Given the description of an element on the screen output the (x, y) to click on. 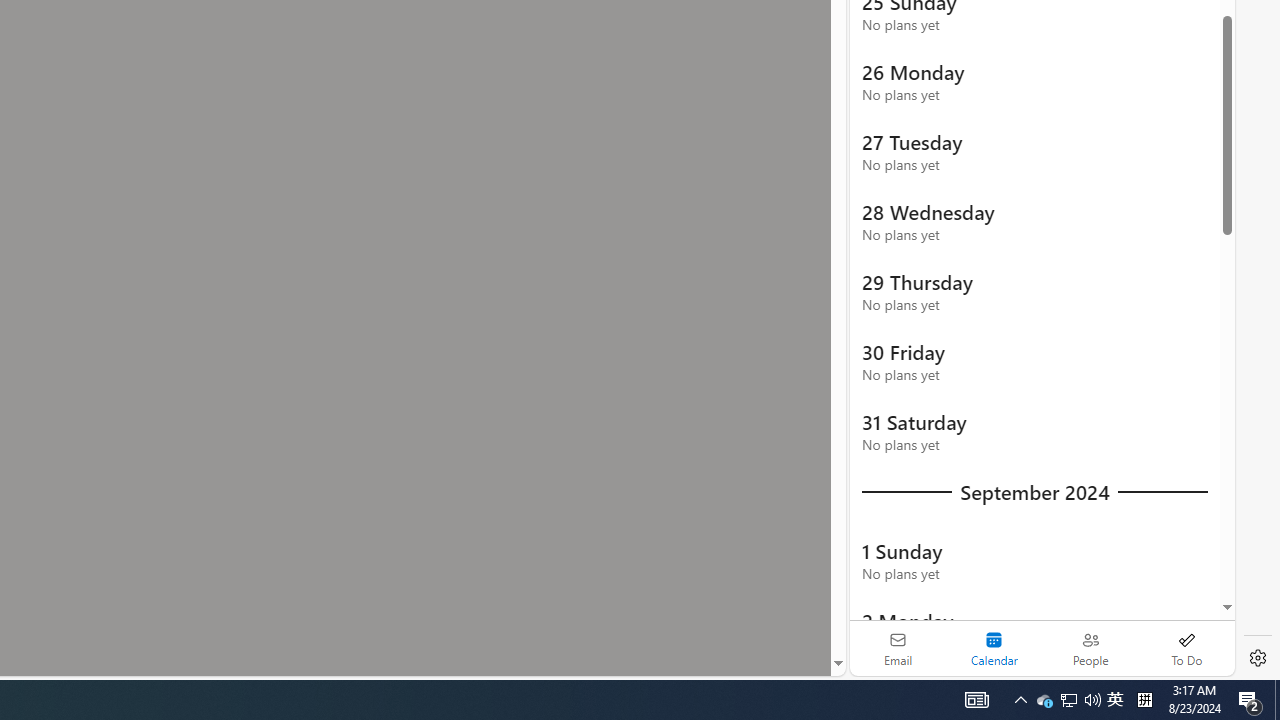
Selected calendar module. Date today is 22 (994, 648)
Settings (1258, 658)
People (1090, 648)
Email (898, 648)
To Do (1186, 648)
